Given the description of an element on the screen output the (x, y) to click on. 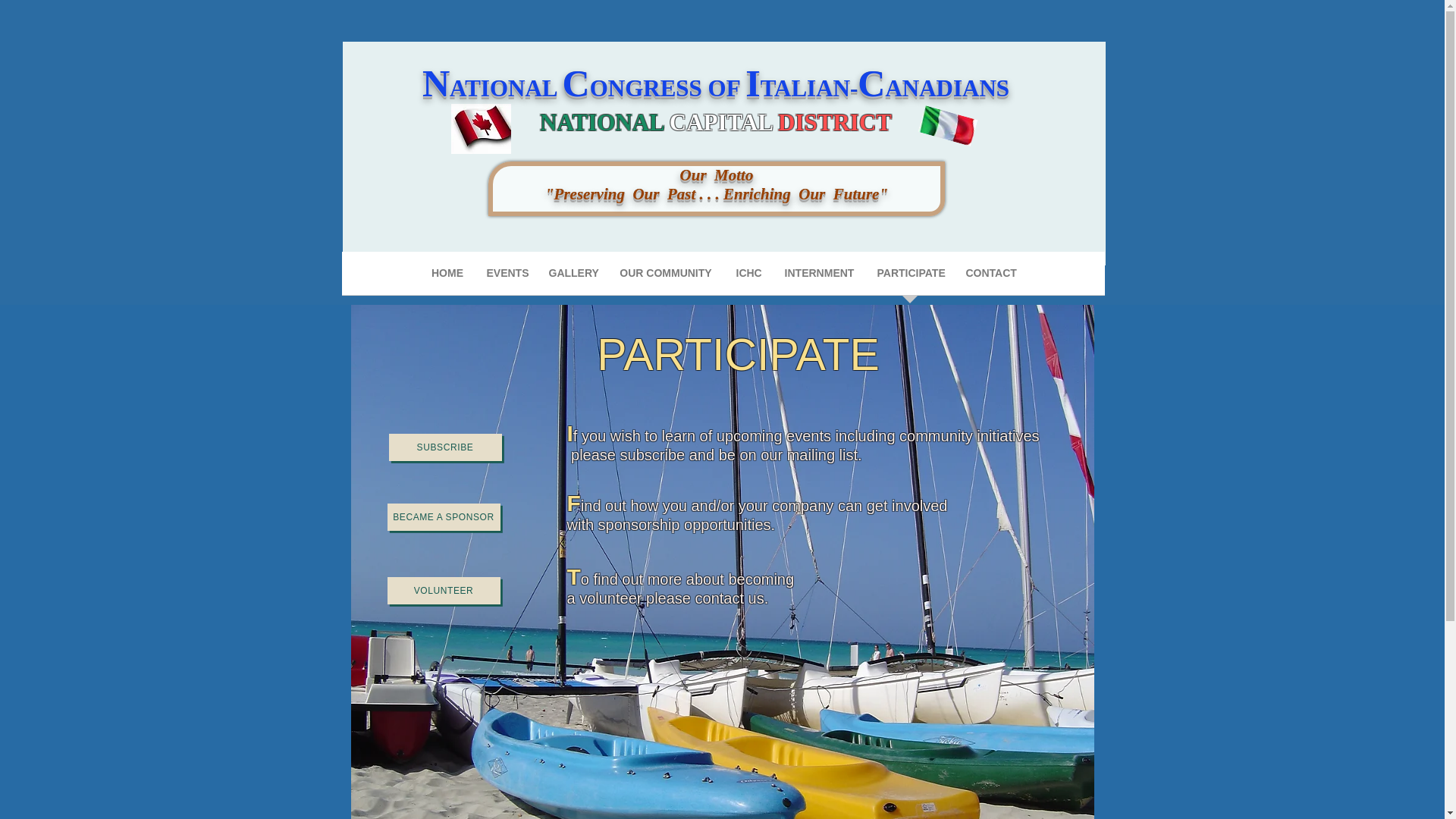
GALLERY (572, 277)
PARTICIPATE (910, 277)
HOME (448, 277)
INTERNMENT (819, 277)
OUR COMMUNITY (665, 277)
EVENTS (505, 277)
ICHC (749, 277)
